Given the description of an element on the screen output the (x, y) to click on. 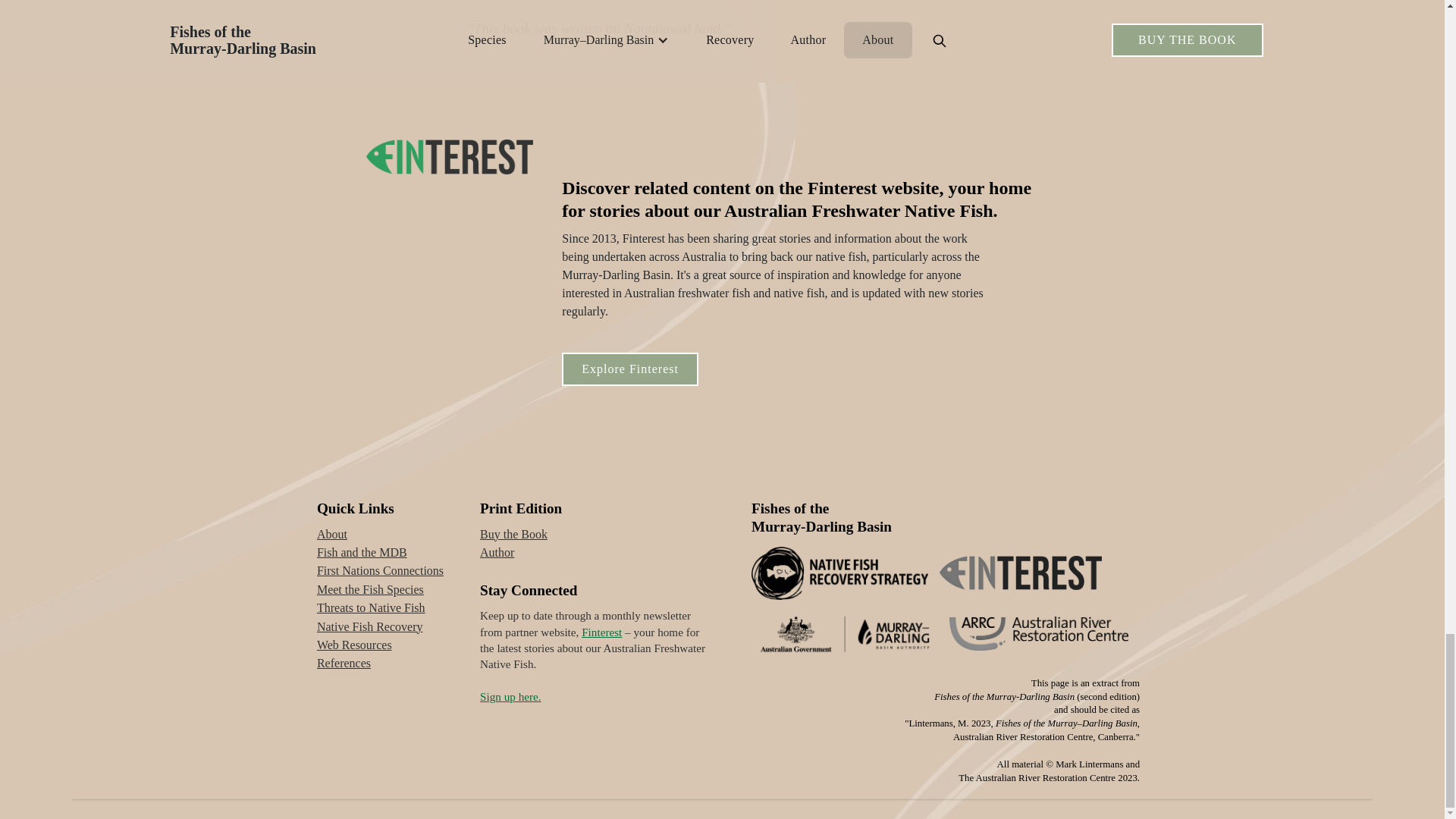
Meet the Fish Species (370, 589)
Threats to Native Fish (371, 607)
Author (496, 552)
Buy the Book (513, 534)
Web Resources (354, 645)
Fish and the MDB (362, 552)
Explore Finterest (630, 368)
About (332, 534)
First Nations Connections (380, 570)
Native Fish Recovery (370, 627)
References (344, 663)
